Given the description of an element on the screen output the (x, y) to click on. 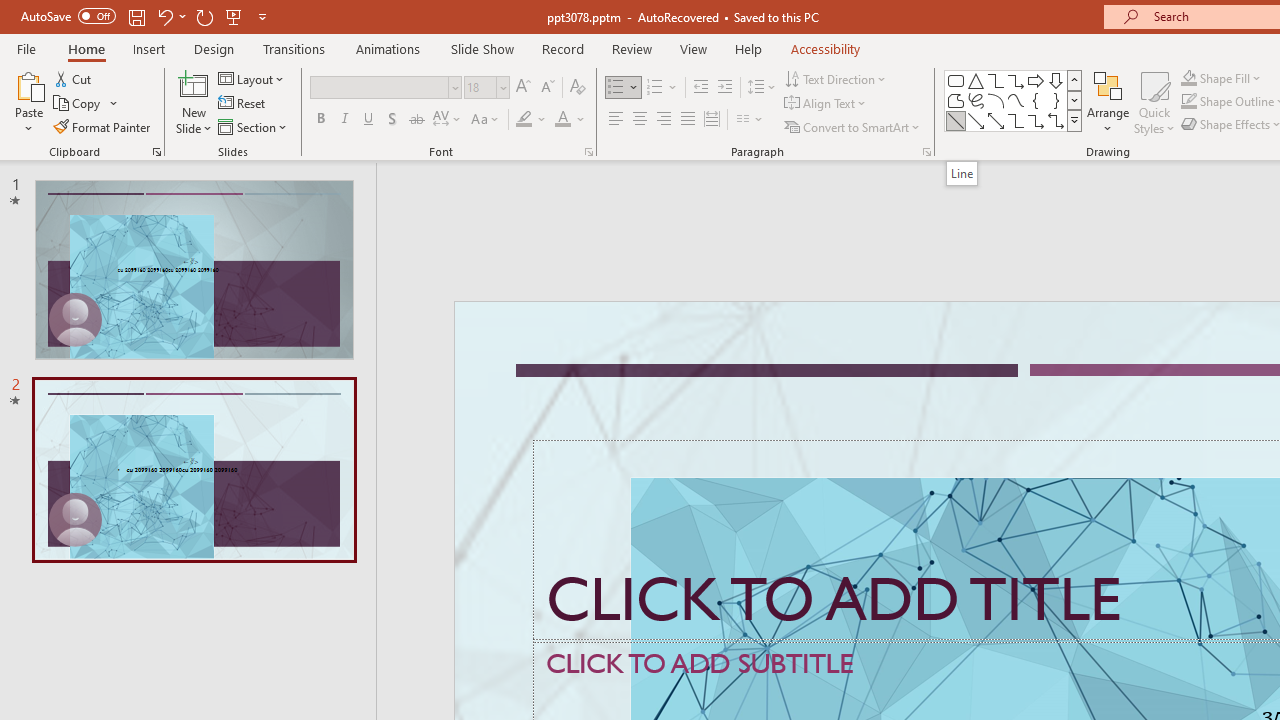
Class: actions-container (703, 681)
Explorer actions (391, 322)
Go Forward (Alt+RightArrow) (1102, 265)
Source Control (Ctrl+Shift+G) (135, 544)
Wikipedia, the free encyclopedia (437, 138)
sample_500k.py (619, 322)
Close (Ctrl+F4) (1188, 322)
json2jsonl.py (1092, 322)
